Given the description of an element on the screen output the (x, y) to click on. 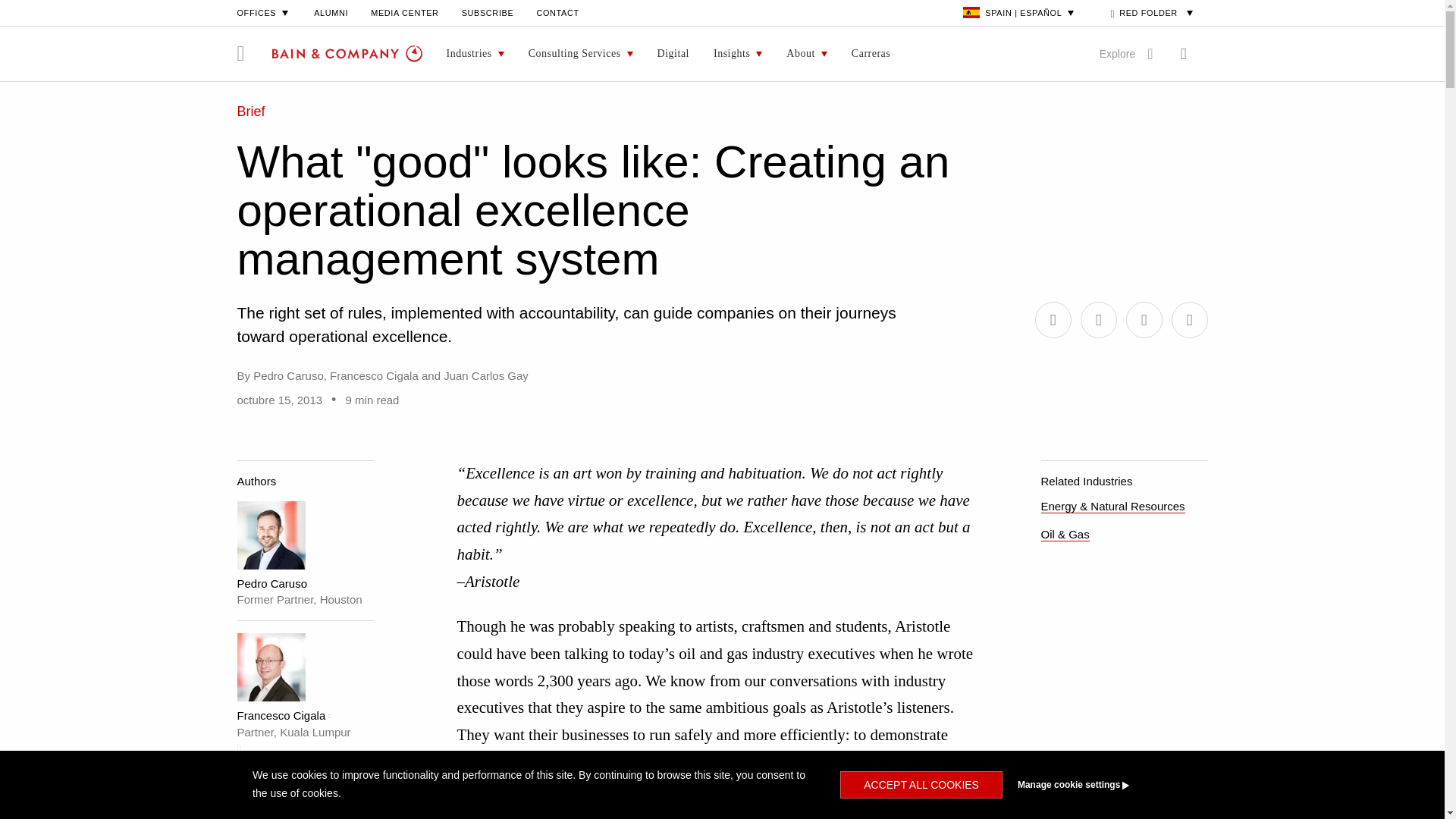
Manage cookie settings (1101, 784)
ACCEPT ALL COOKIES (921, 784)
OFFICES (263, 12)
